Given the description of an element on the screen output the (x, y) to click on. 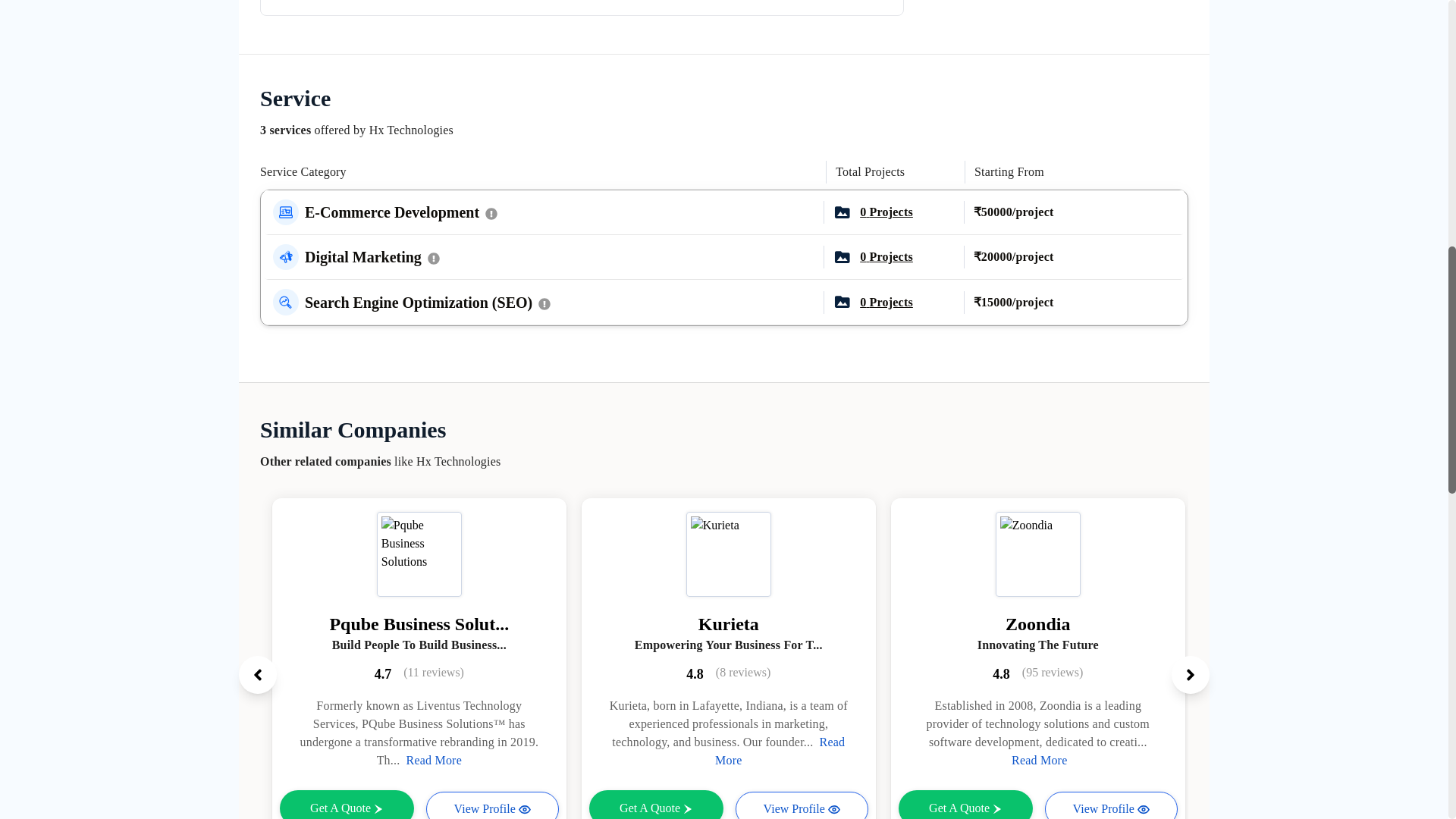
Get A Quote (656, 804)
Get A Quote (346, 804)
View Profile (801, 805)
View Profile (492, 805)
View Profile (1111, 805)
Get A Quote (965, 804)
